Given the description of an element on the screen output the (x, y) to click on. 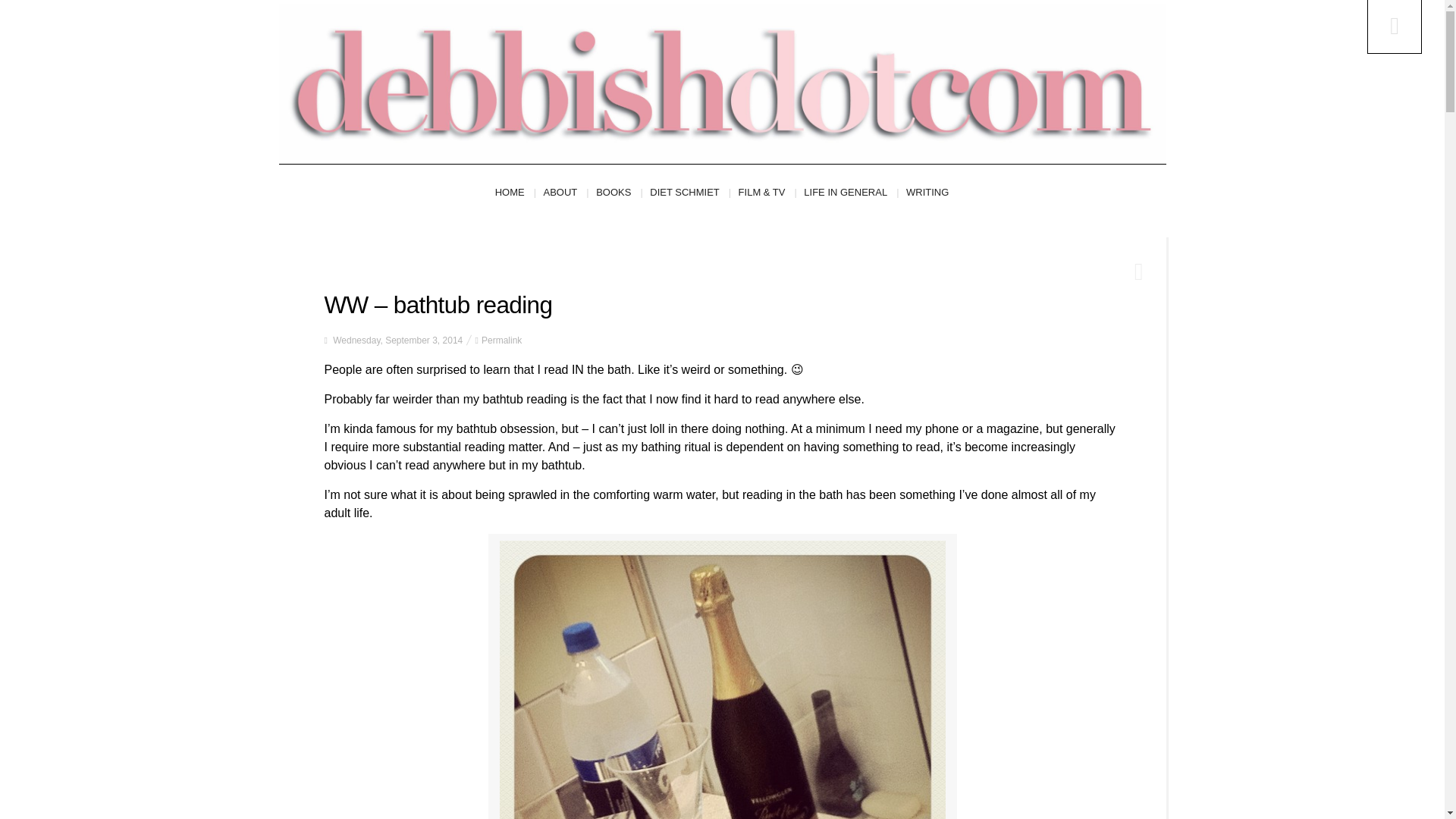
DIET SCHMIET (689, 192)
Permalink (501, 339)
LIFE IN GENERAL (850, 192)
BOOKS (619, 192)
